Given the description of an element on the screen output the (x, y) to click on. 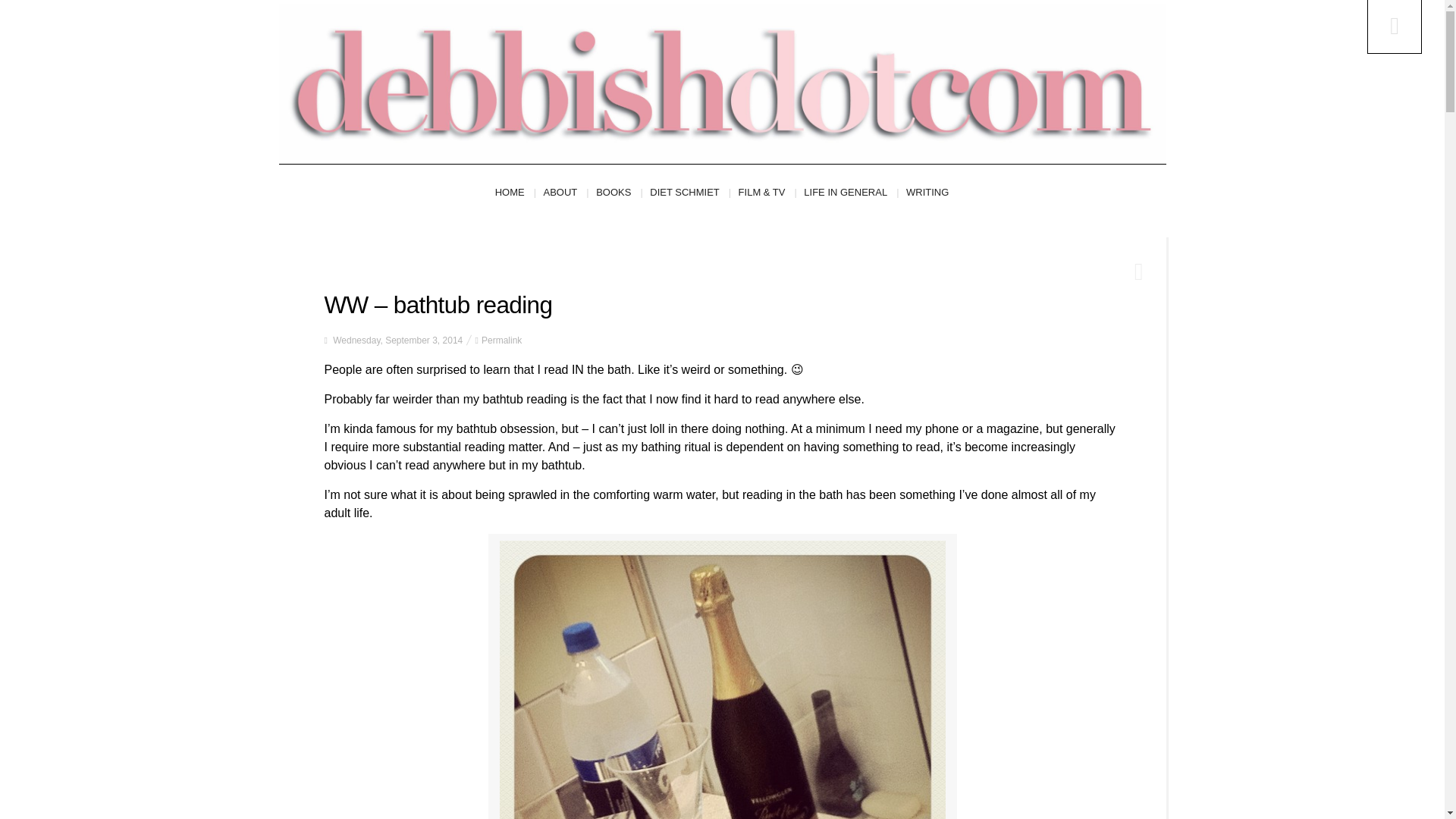
DIET SCHMIET (689, 192)
Permalink (501, 339)
LIFE IN GENERAL (850, 192)
BOOKS (619, 192)
